Given the description of an element on the screen output the (x, y) to click on. 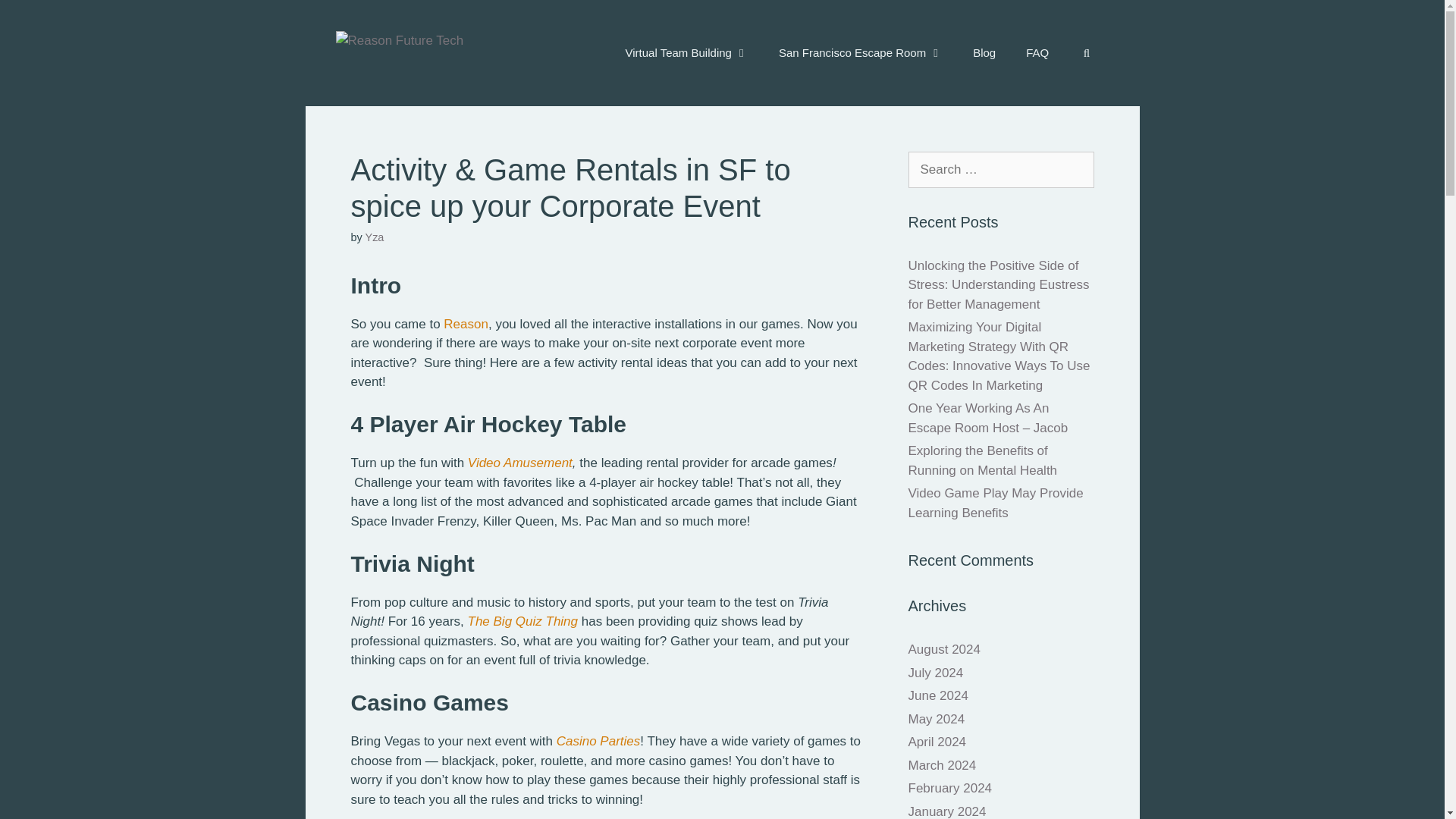
Exploring the Benefits of Running on Mental Health (983, 460)
April 2024 (937, 741)
Search for: (1001, 169)
Video Amusement (519, 462)
Yza (374, 236)
Blog (984, 53)
May 2024 (936, 718)
Virtual Team Building (686, 53)
Search (36, 18)
